Given the description of an element on the screen output the (x, y) to click on. 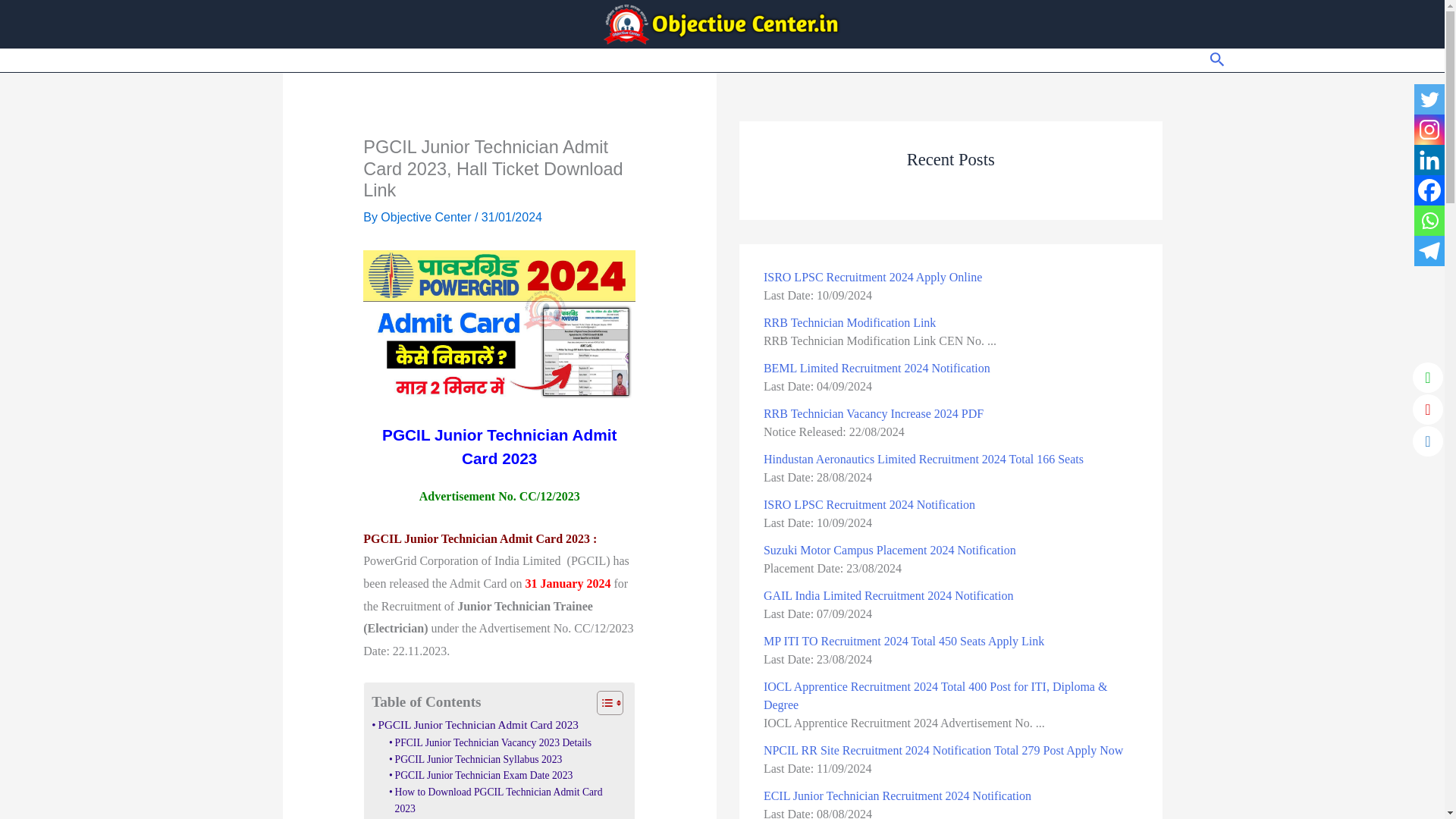
PGCIL Junior Technician Syllabus 2023 (475, 759)
PGCIL Junior Technician Syllabus 2023 (475, 759)
News (1166, 60)
PGCIL Junior Technician Exam Date 2023 (480, 775)
Result (577, 60)
Objective Center (427, 216)
Admission (1017, 60)
Apprentice (744, 60)
How to Download PGCIL Technician Admit Card 2023 (504, 800)
PGCIL Junior Technician Exam Date 2023 (480, 775)
